Given the description of an element on the screen output the (x, y) to click on. 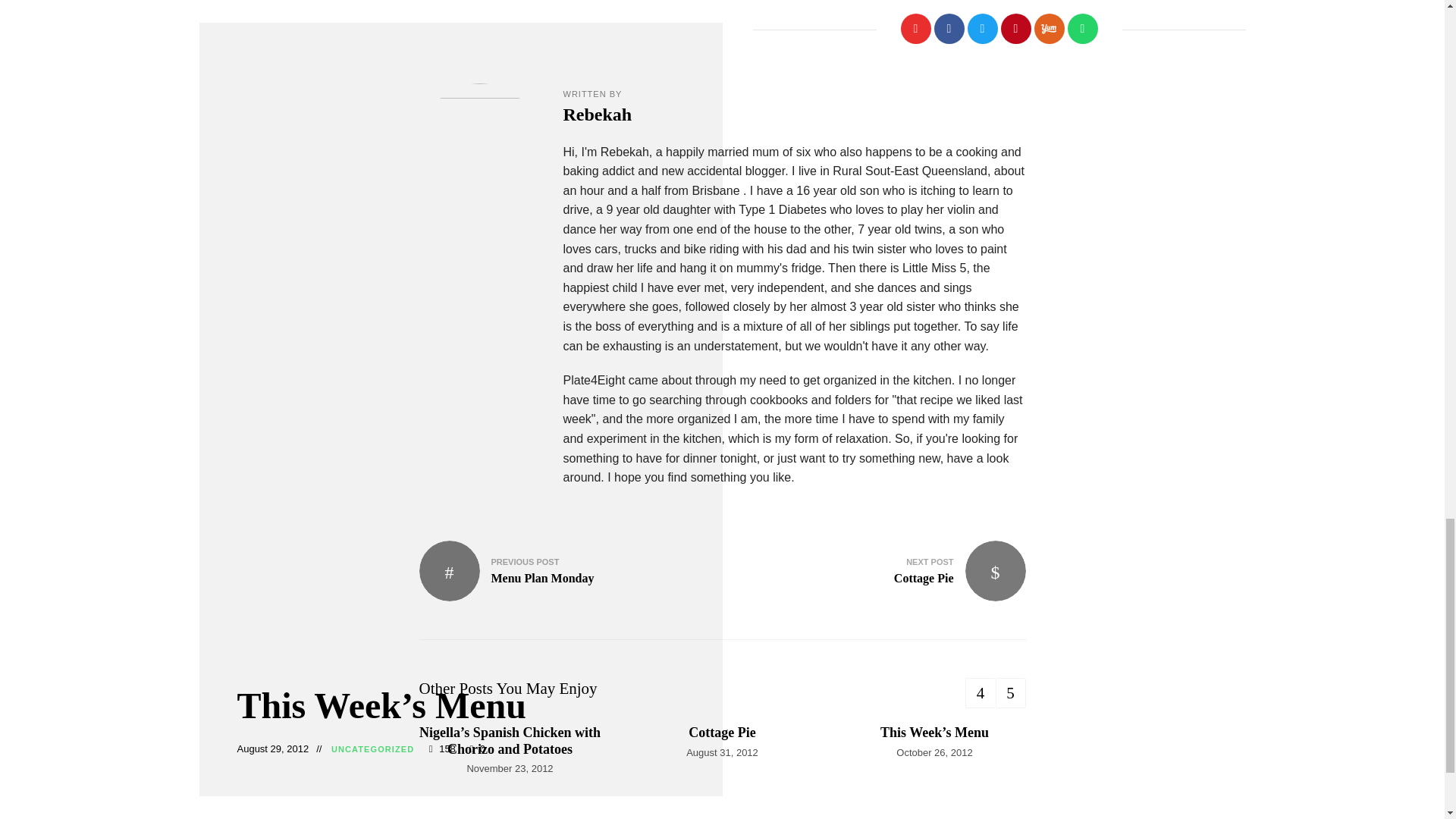
Twitter (982, 28)
WhatsApp (1082, 28)
Pinterest (1015, 28)
Facebook (948, 28)
Yummly (1048, 28)
Like (916, 28)
